Given the description of an element on the screen output the (x, y) to click on. 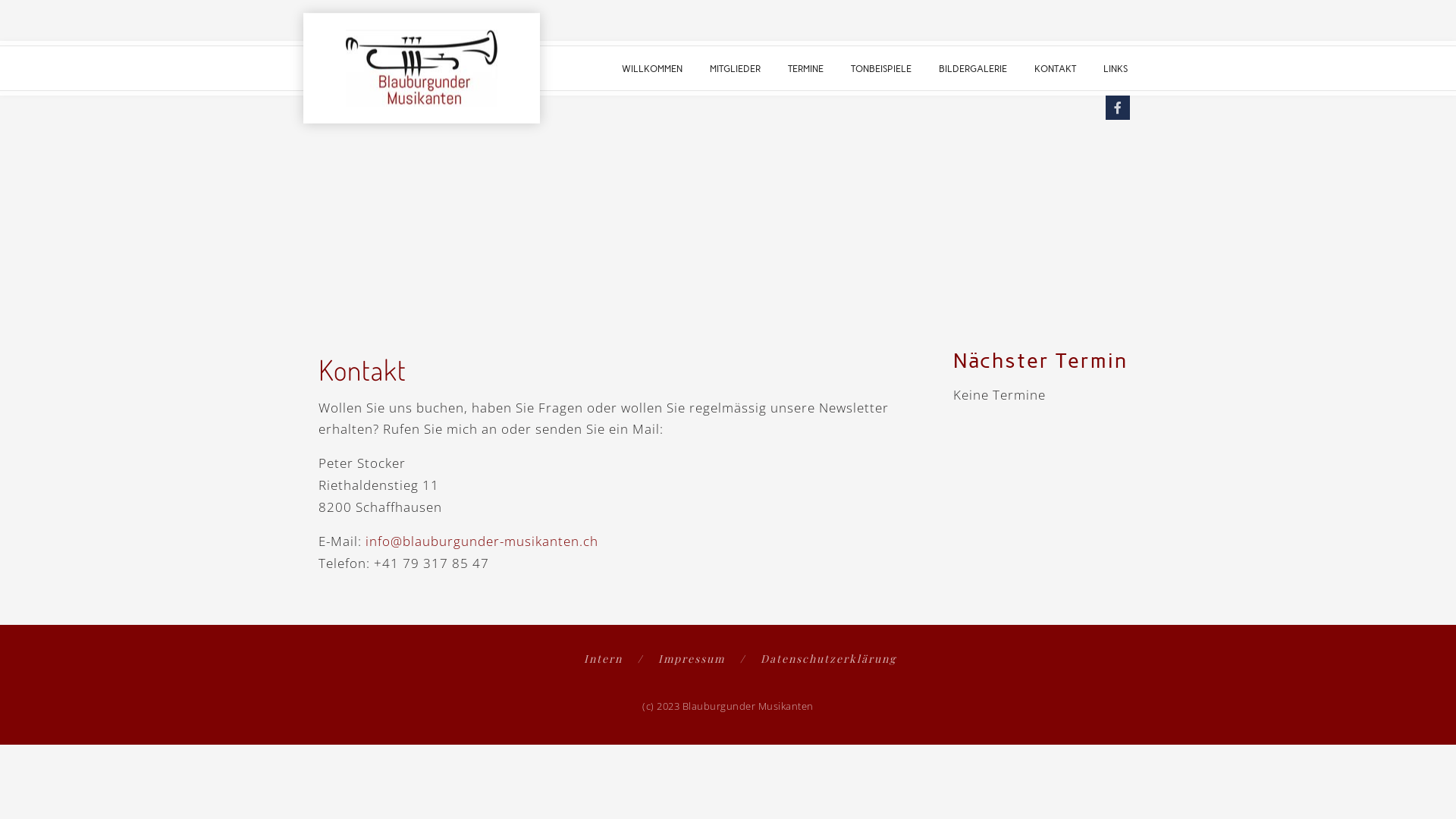
BILDERGALERIE Element type: text (972, 68)
Facebook Element type: hover (1117, 107)
Intern Element type: text (613, 657)
WILLKOMMEN Element type: text (652, 68)
Impressum Element type: text (701, 657)
KONTAKT Element type: text (1054, 68)
TONBEISPIELE Element type: text (881, 68)
LINKS Element type: text (1115, 68)
TERMINE Element type: text (805, 68)
info@blauburgunder-musikanten.ch Element type: text (481, 540)
MITGLIEDER Element type: text (735, 68)
